Given the description of an element on the screen output the (x, y) to click on. 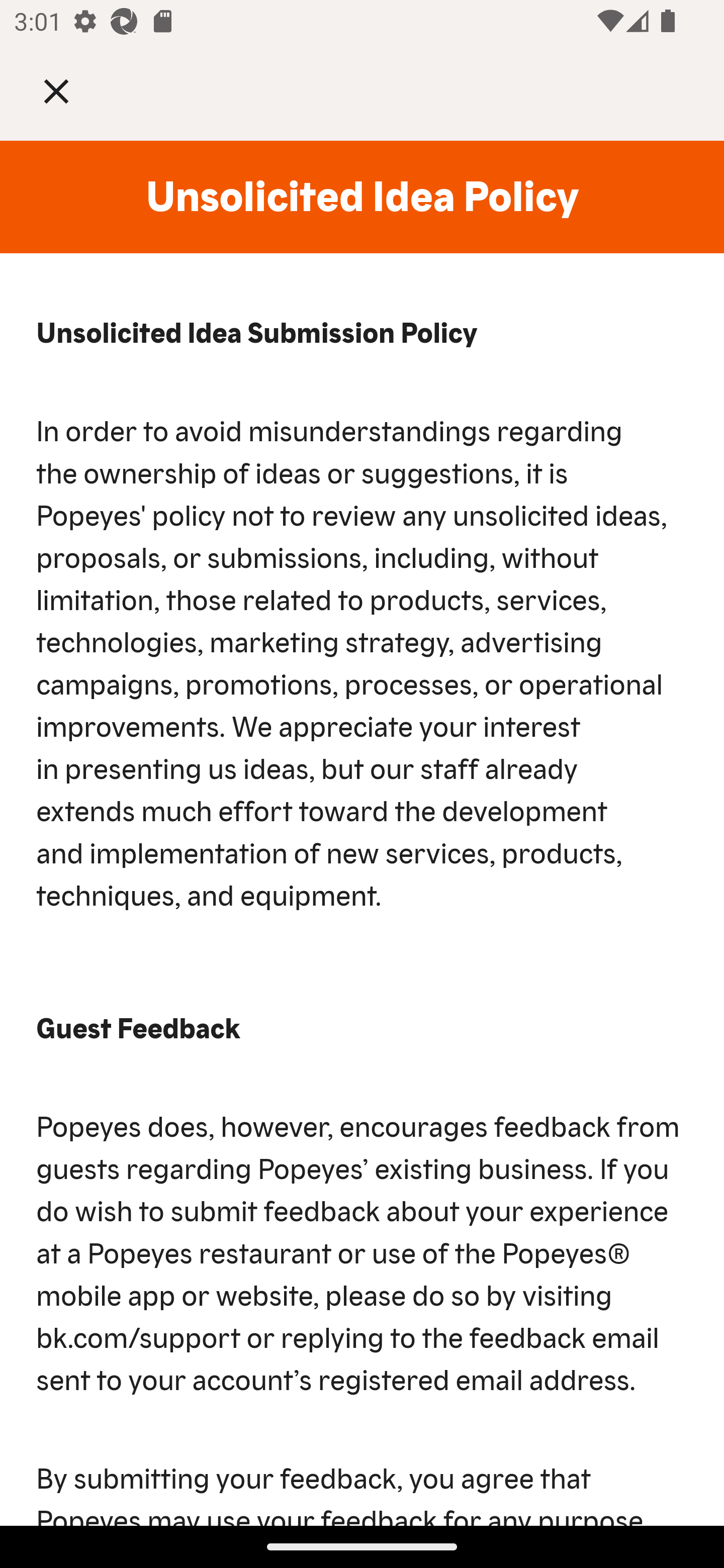
 (70, 90)
